Given the description of an element on the screen output the (x, y) to click on. 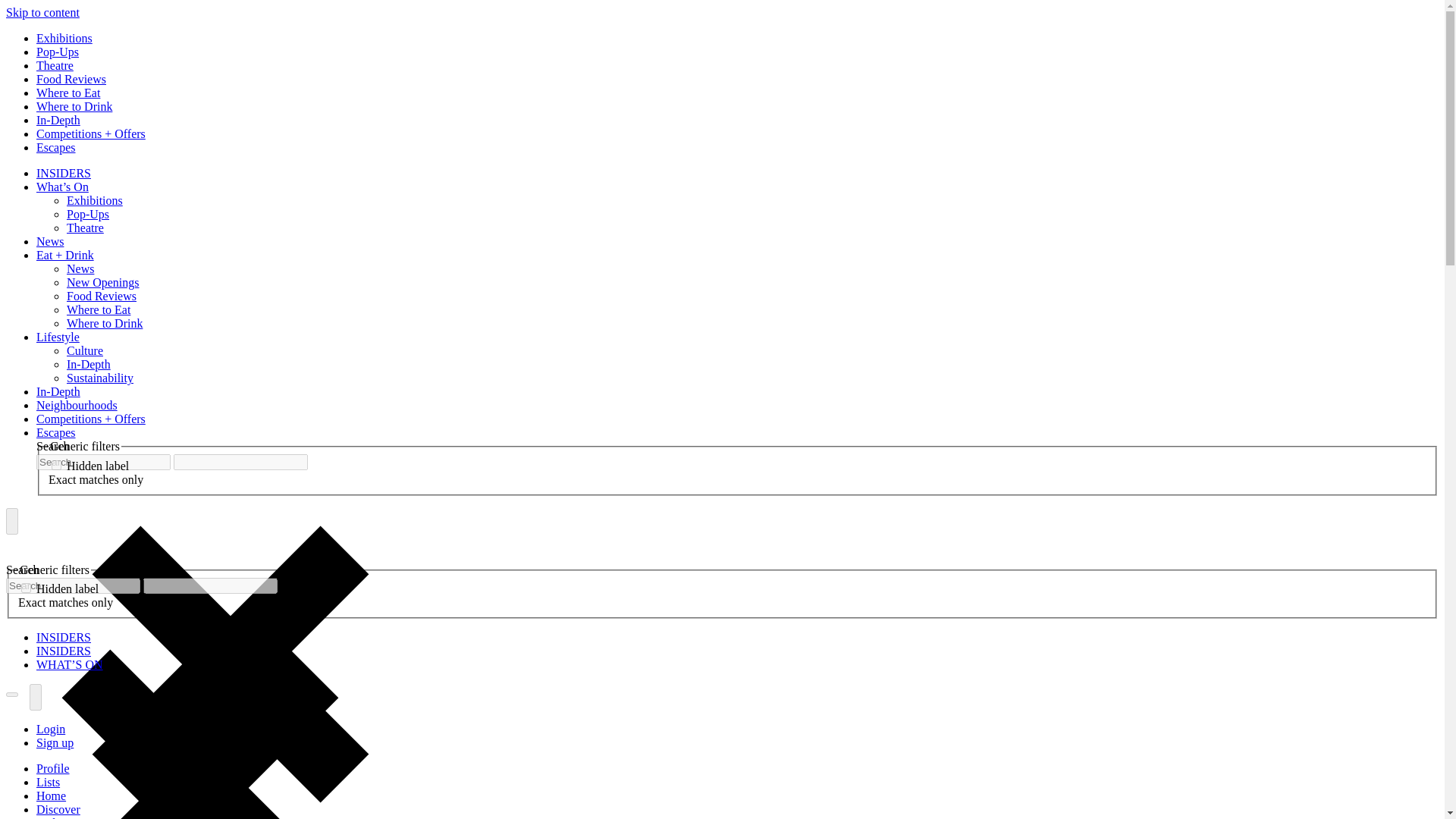
Culture (84, 350)
Sustainability (99, 377)
Pop-Ups (87, 214)
Skip to content (42, 11)
Escapes (55, 431)
Food Reviews (101, 295)
Food Reviews (71, 78)
News (50, 241)
Theatre (55, 65)
Neighbourhoods (76, 404)
In-Depth (58, 119)
Where to Eat (68, 92)
Exhibitions (94, 200)
Login (50, 728)
In-Depth (58, 391)
